Given the description of an element on the screen output the (x, y) to click on. 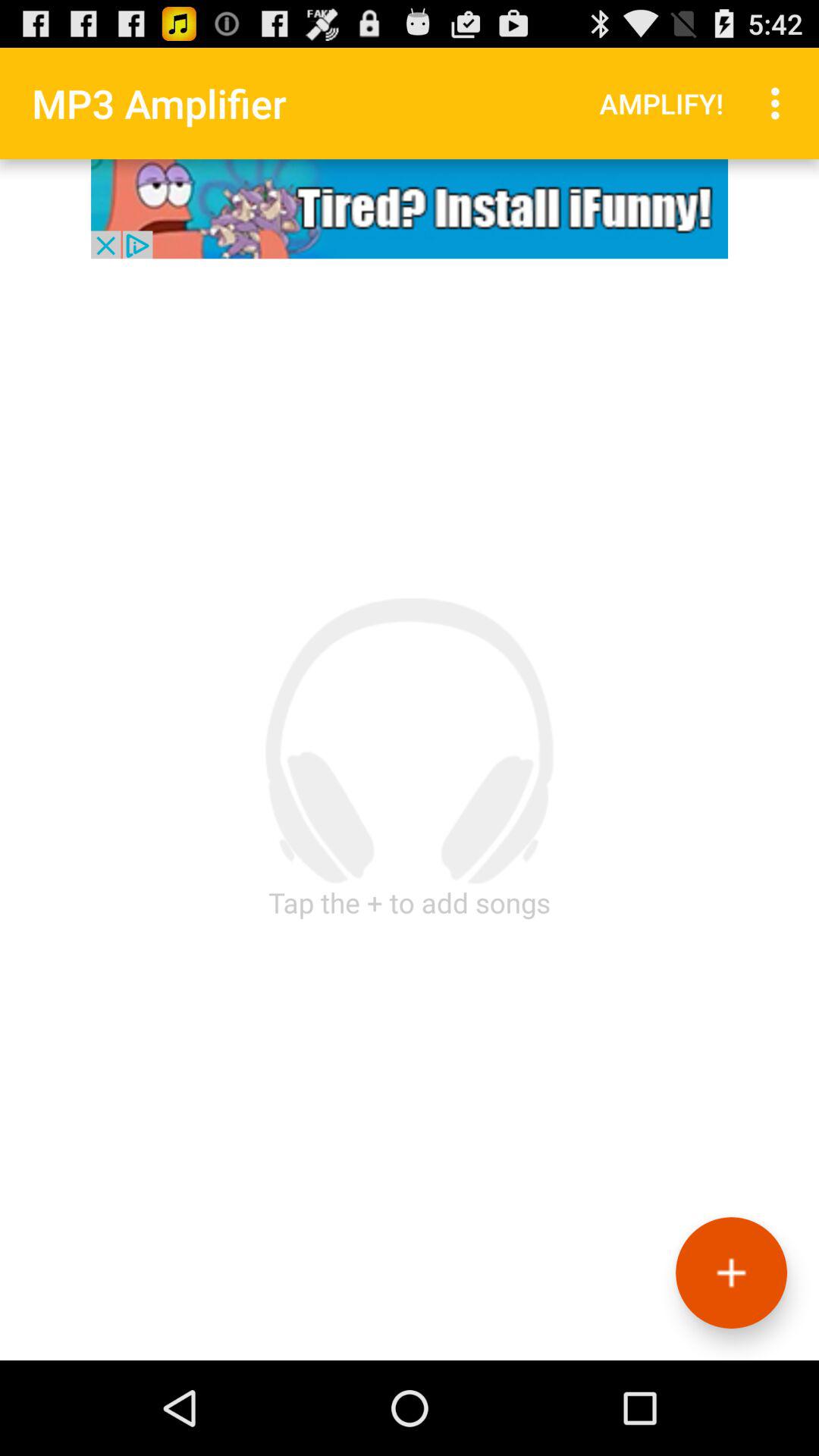
icon button (409, 208)
